Given the description of an element on the screen output the (x, y) to click on. 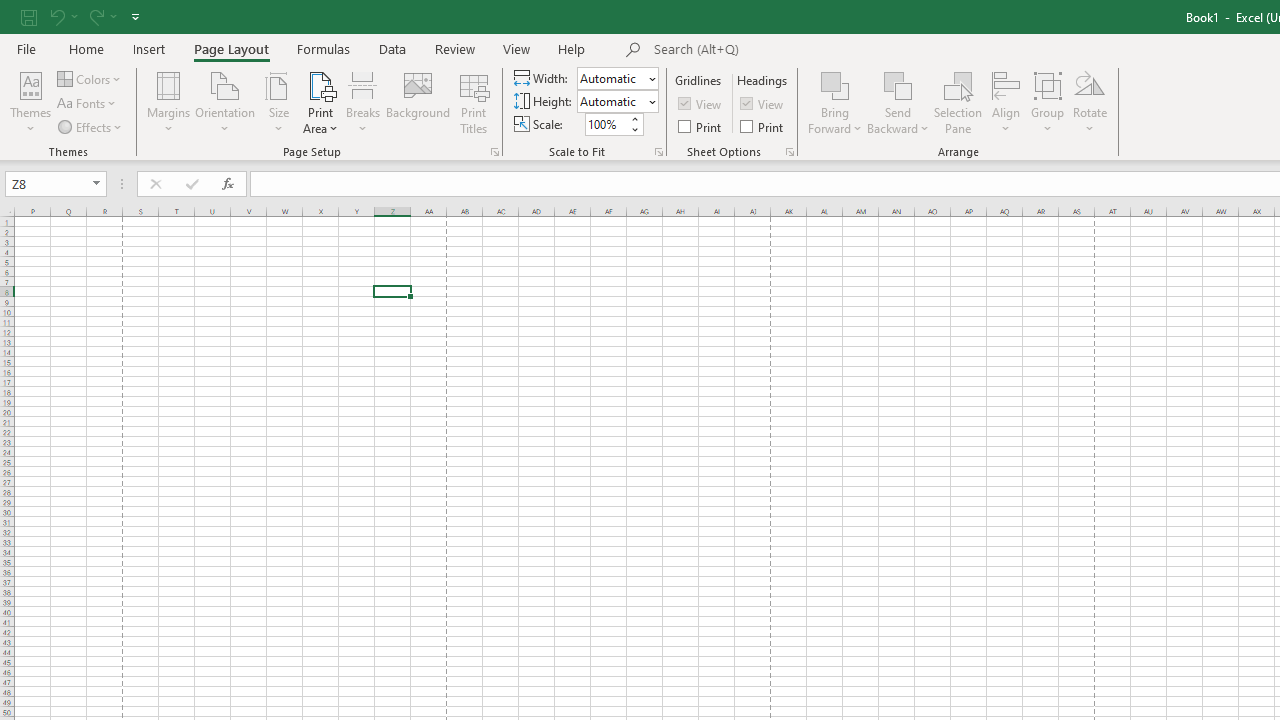
Selection Pane... (958, 102)
File Tab (26, 48)
Quick Access Toolbar (82, 16)
Align (1005, 102)
Width (611, 78)
Home (86, 48)
Print Titles (474, 102)
Customize Quick Access Toolbar (135, 15)
Bring Forward (835, 102)
Data (392, 48)
Size (278, 102)
Height (618, 101)
